Given the description of an element on the screen output the (x, y) to click on. 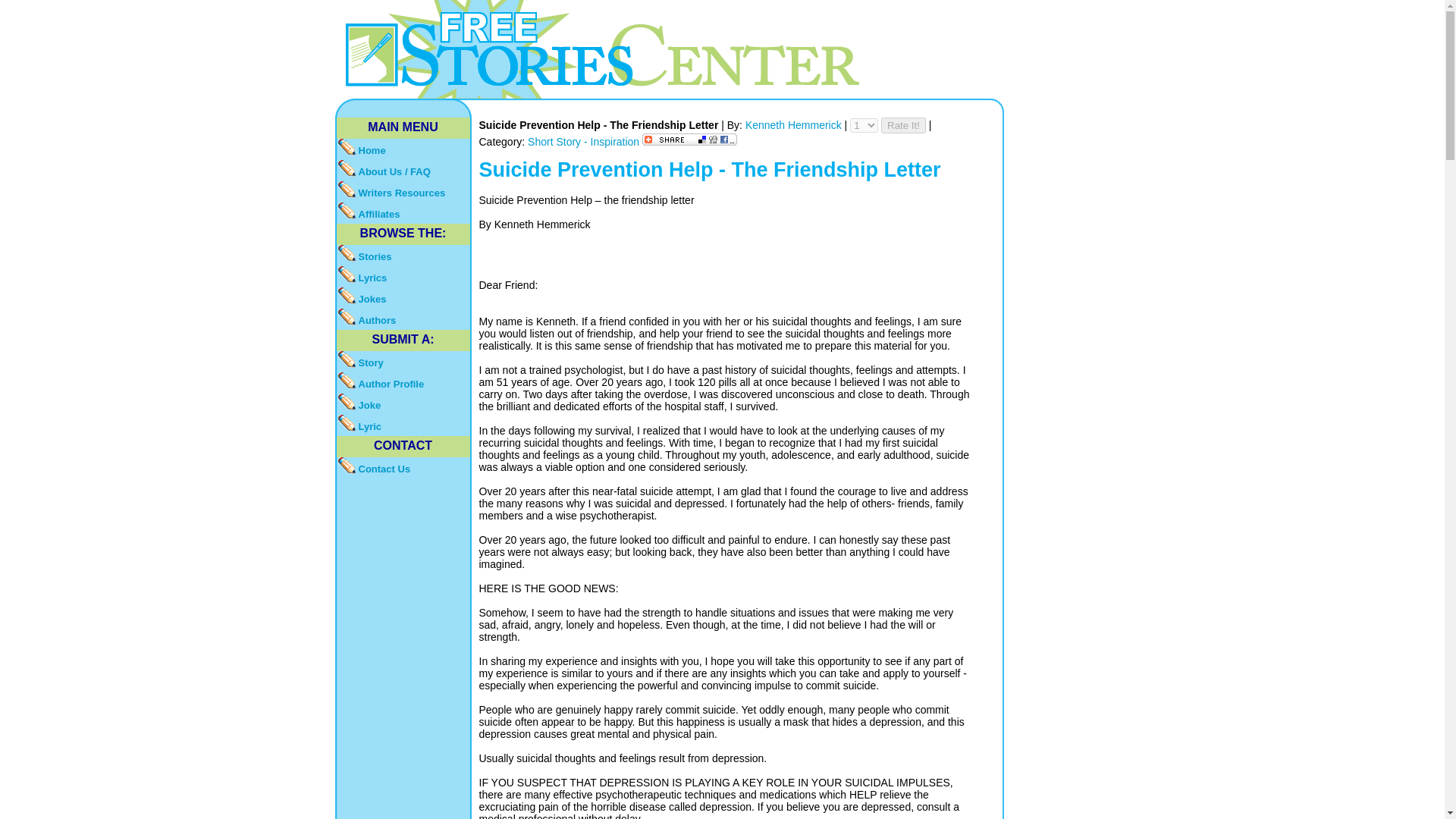
Kenneth Hemmerick (794, 124)
Joke (403, 403)
Story (403, 361)
Authors (403, 319)
Home (403, 148)
Lyrics (403, 276)
Author Profile (403, 382)
Contact Us (403, 467)
Short Story - Inspiration (584, 141)
Writers Resources (403, 191)
Jokes (403, 297)
Affiliates (403, 212)
Rate It! (903, 125)
Lyric (403, 424)
Stories (403, 255)
